Given the description of an element on the screen output the (x, y) to click on. 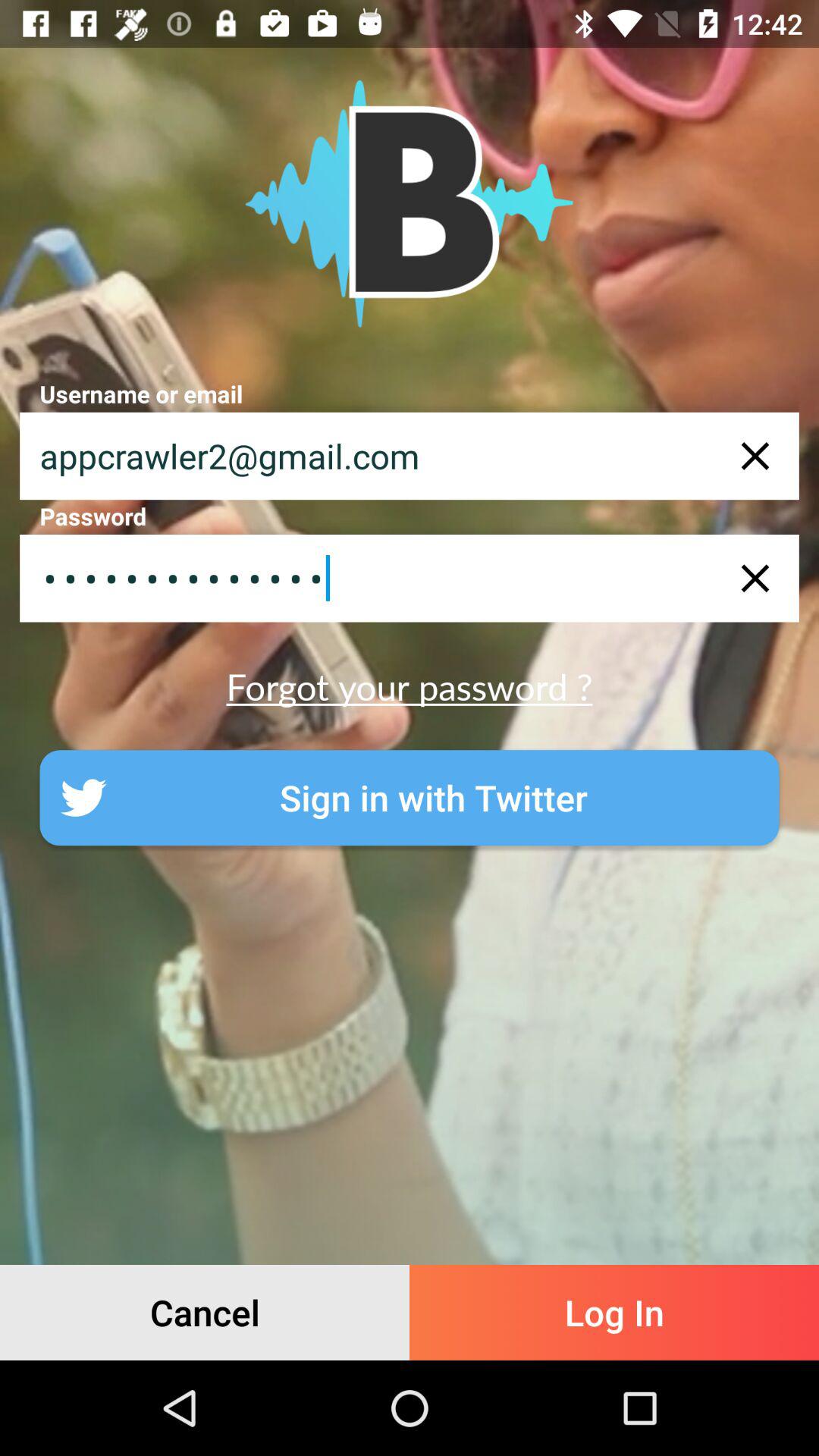
click the item below forgot your password ? (409, 797)
